Given the description of an element on the screen output the (x, y) to click on. 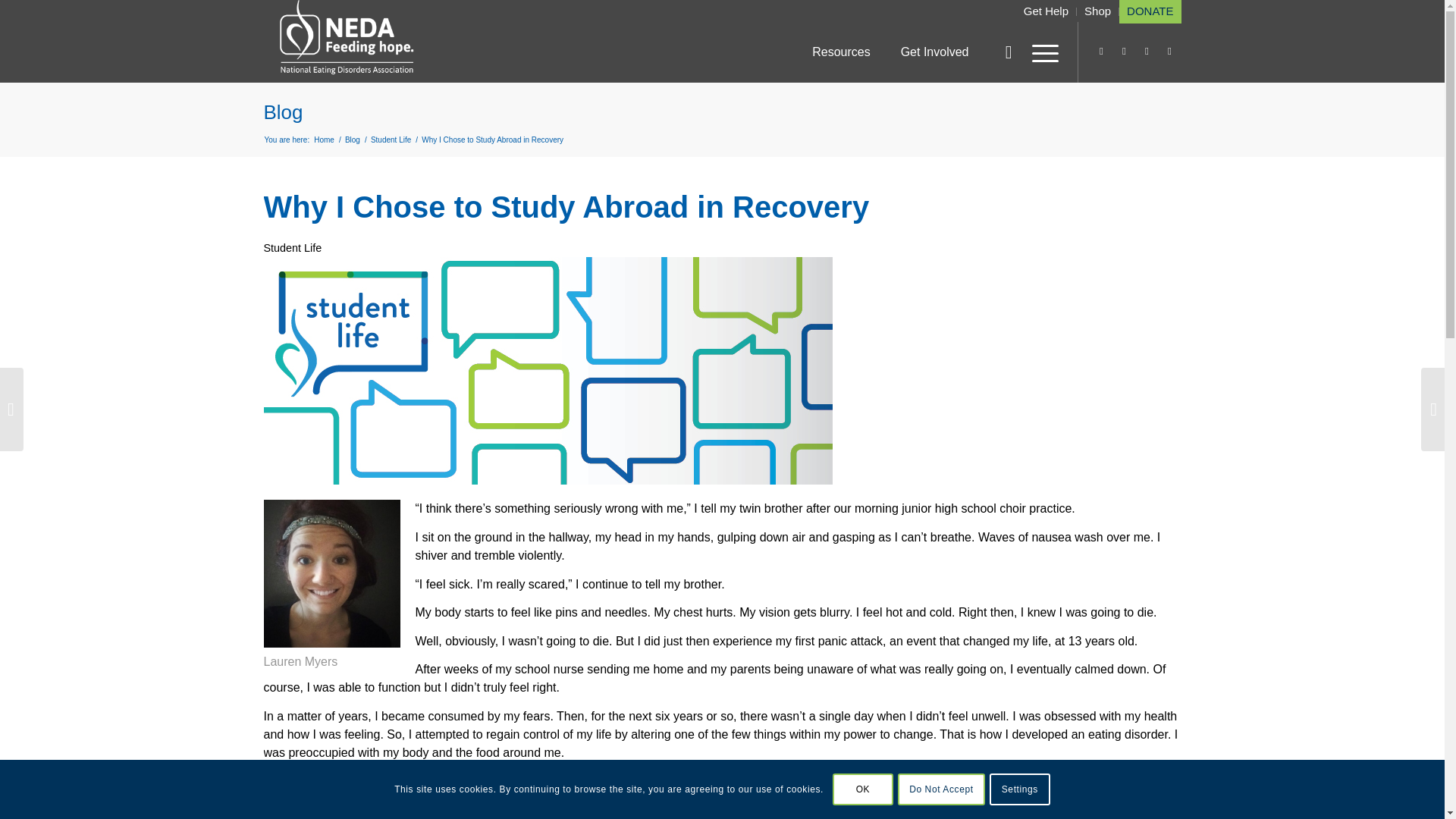
Youtube (1146, 51)
OK (862, 789)
Do Not Accept (941, 789)
Get Help (1045, 11)
Blog (352, 139)
LinkedIn (1124, 51)
DONATE (1149, 11)
Home (323, 139)
Please click for getting help resources (1045, 11)
